Given the description of an element on the screen output the (x, y) to click on. 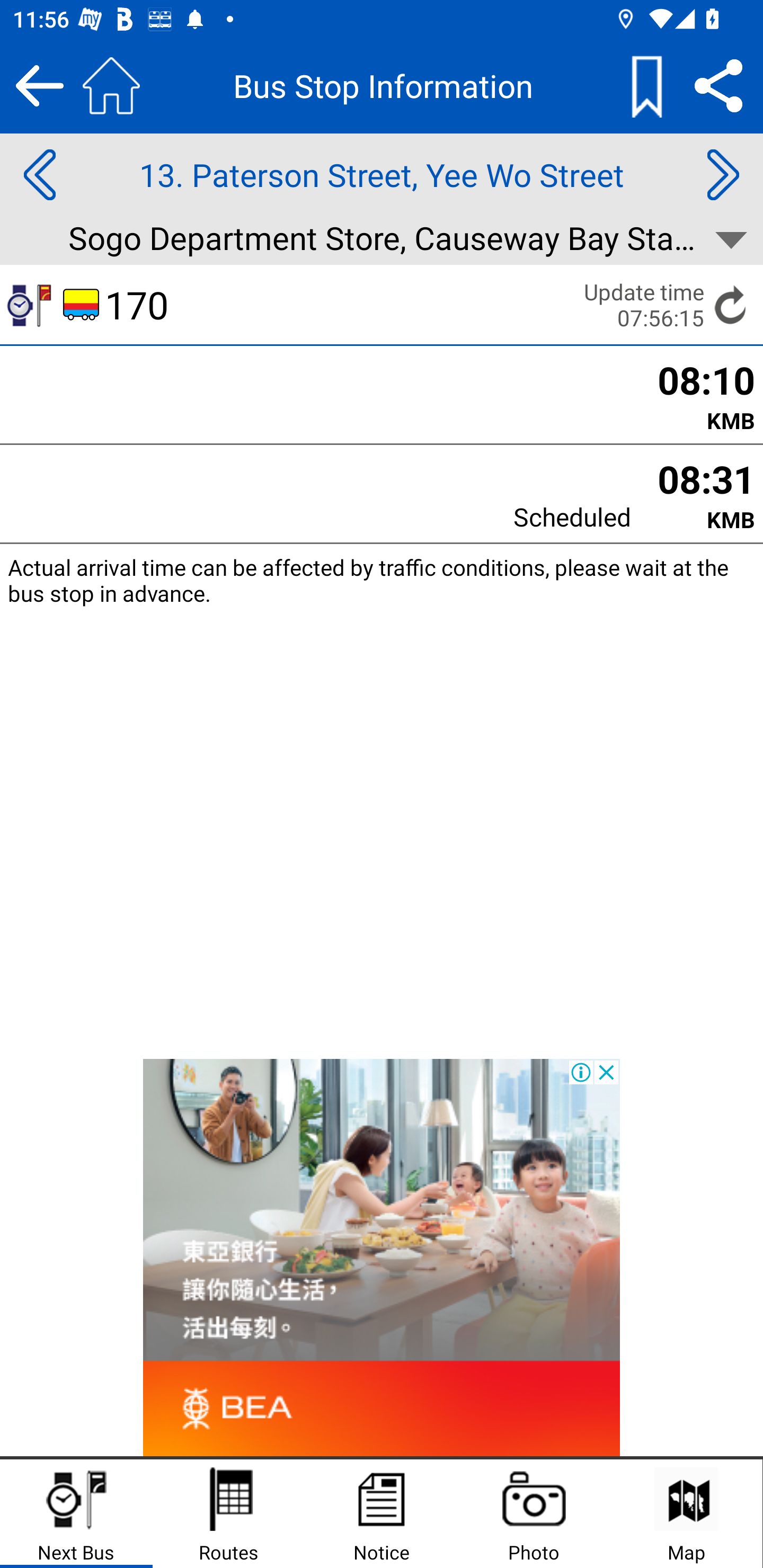
Jump to home page (111, 85)
Add bookmark (646, 85)
Share point to point route search criteria) (718, 85)
Back (39, 85)
Previous stop (39, 174)
Next stop (723, 174)
Sogo Department Store, Causeway Bay Station (381, 240)
Refresh (731, 304)
Advertisement (381, 1257)
Next Bus (76, 1513)
Routes (228, 1513)
Notice (381, 1513)
Photo (533, 1513)
Map (686, 1513)
